Given the description of an element on the screen output the (x, y) to click on. 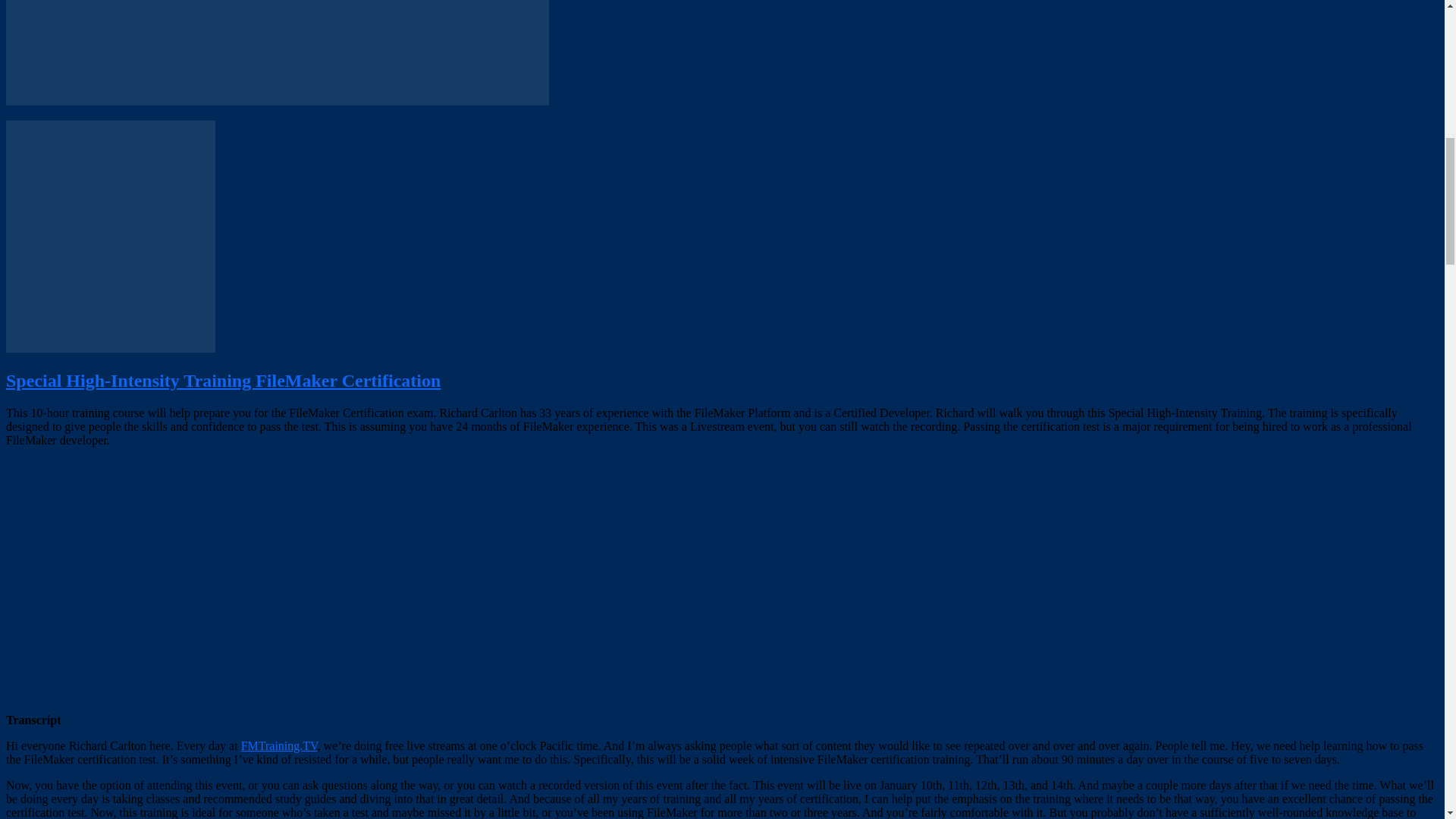
Special High-Intensity Training FileMaker Certification (223, 380)
FMTraining.TV (279, 745)
YouTube video player (217, 578)
